Given the description of an element on the screen output the (x, y) to click on. 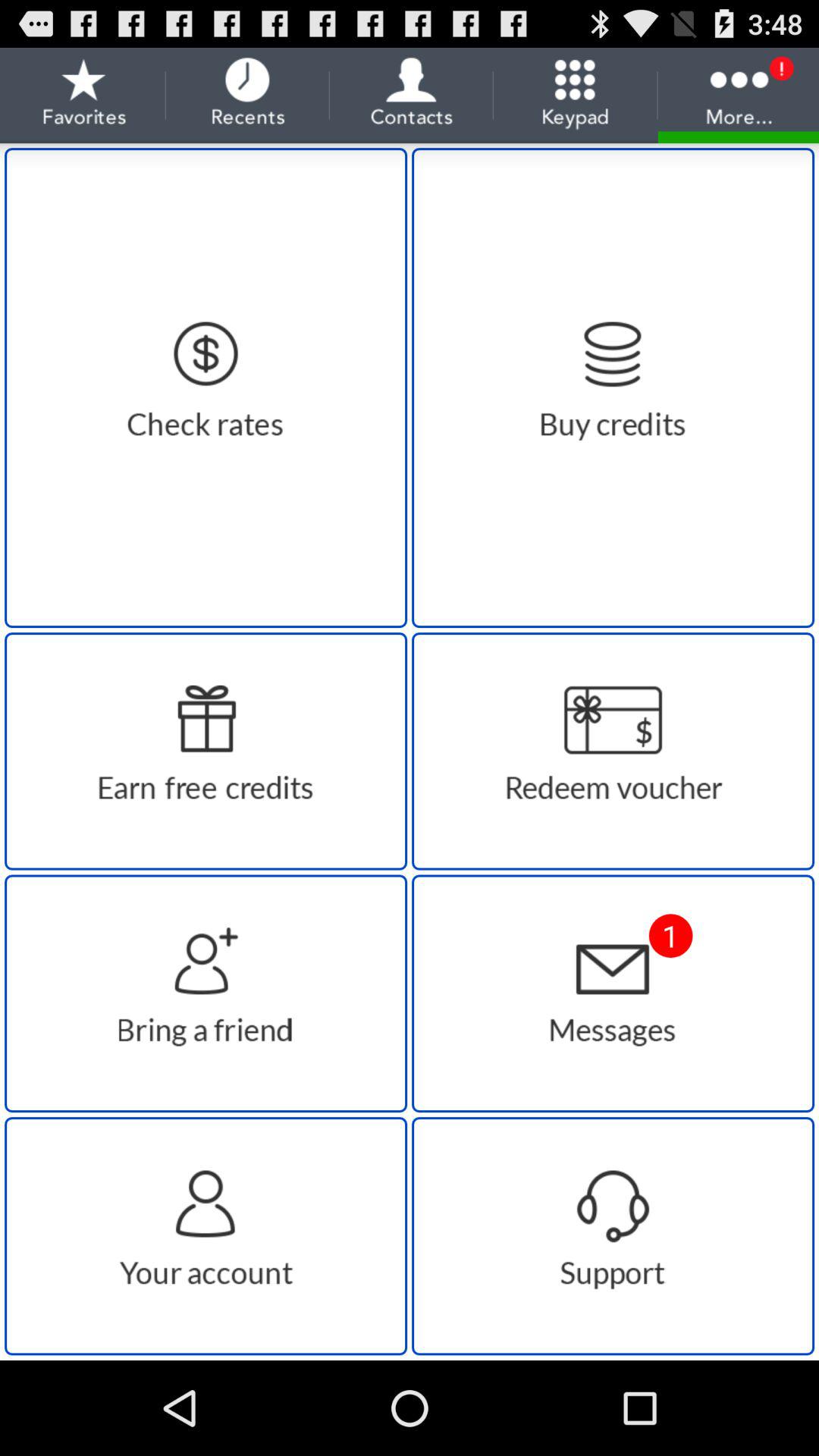
show account information (205, 1236)
